Given the description of an element on the screen output the (x, y) to click on. 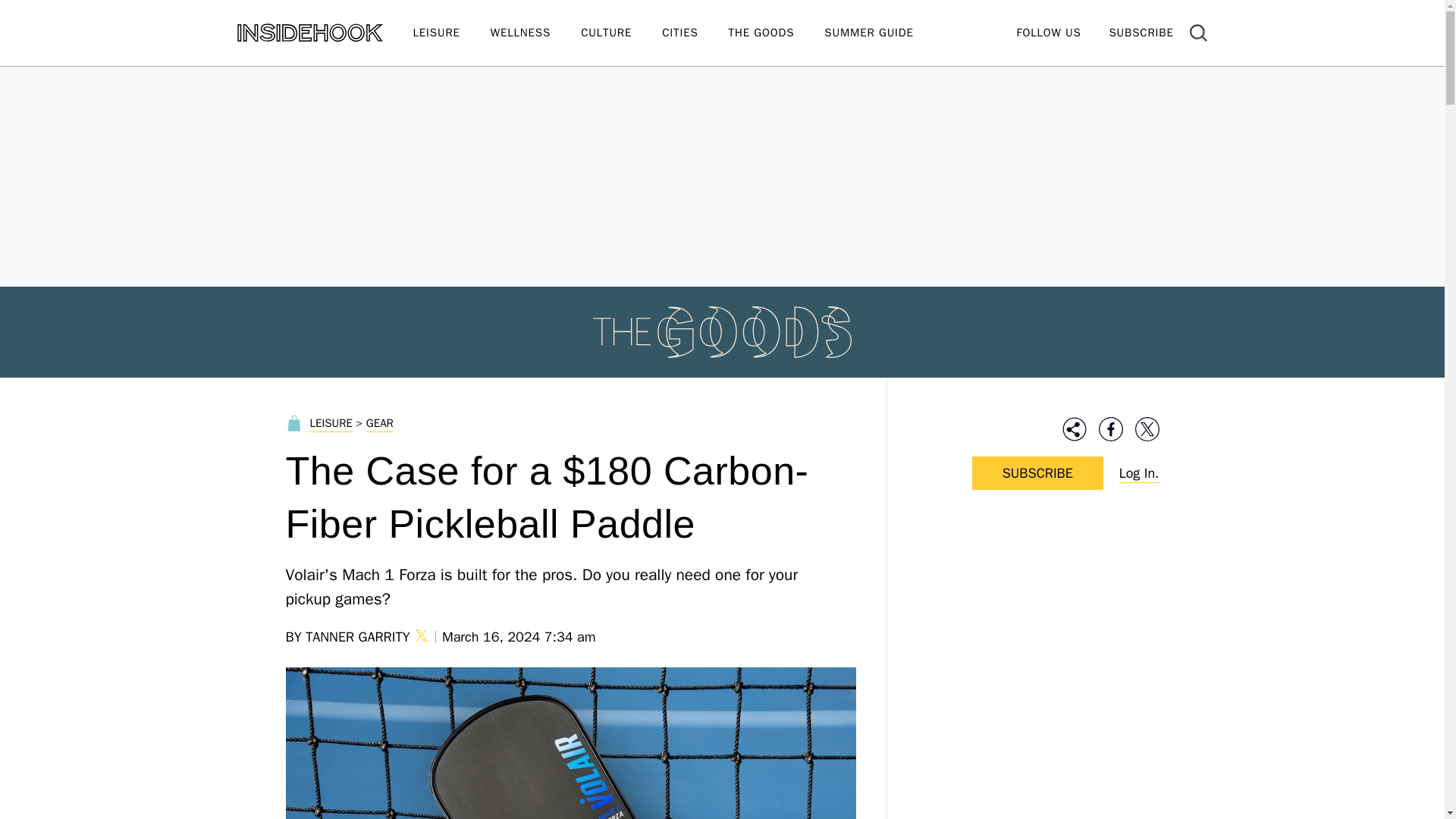
FOLLOW US (1048, 32)
CULTURE (621, 32)
THE GOODS (777, 32)
SUBSCRIBE (1140, 32)
LEISURE (450, 32)
WELLNESS (535, 32)
3rd party ad content (1037, 621)
SUMMER GUIDE (883, 32)
CITIES (695, 32)
